Given the description of an element on the screen output the (x, y) to click on. 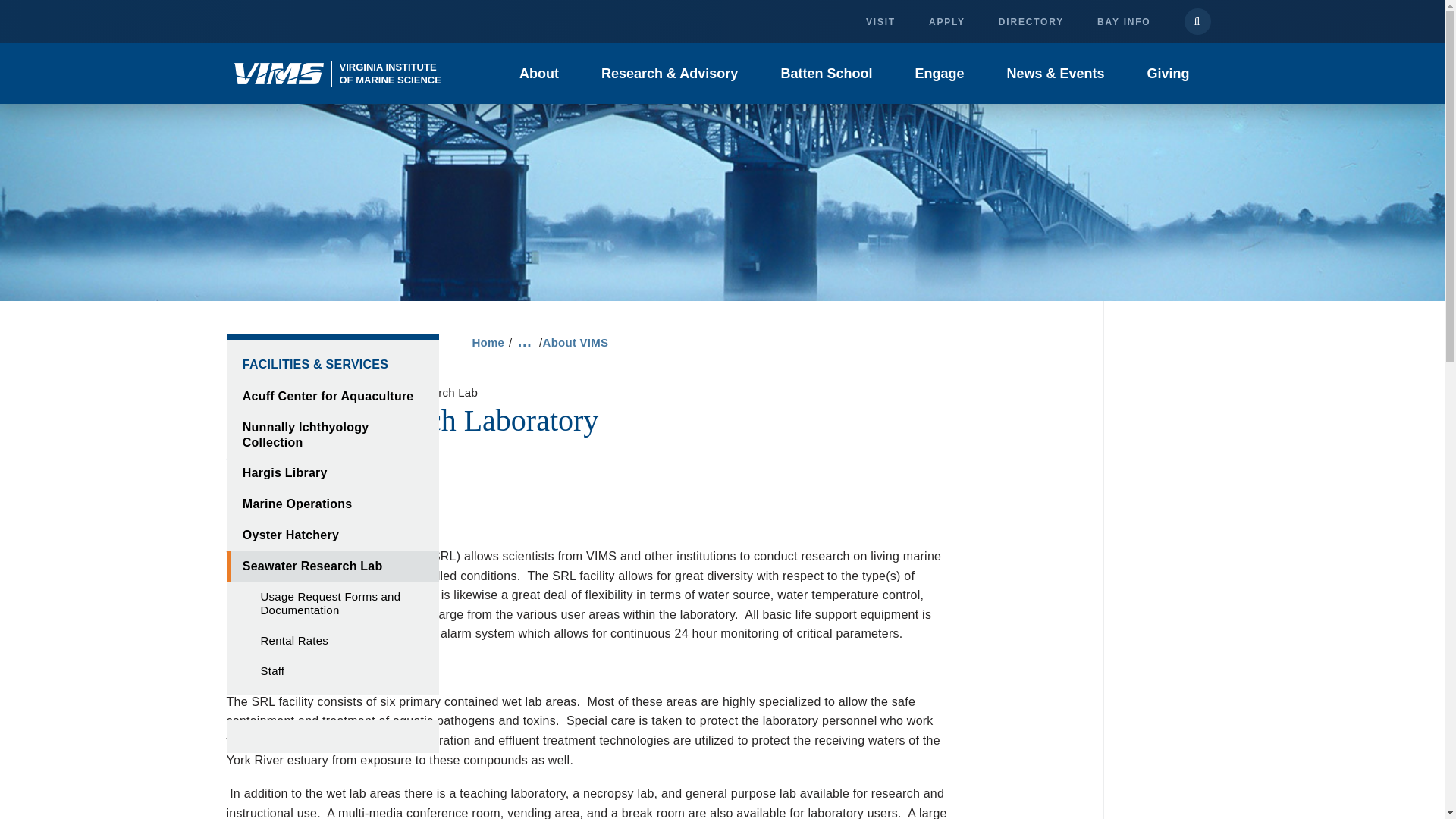
Engage (939, 73)
About (538, 73)
DIRECTORY (336, 73)
SEARCH (1031, 22)
BAY INFO (1198, 21)
Batten School (1123, 22)
APPLY (825, 73)
VISIT (946, 22)
